Given the description of an element on the screen output the (x, y) to click on. 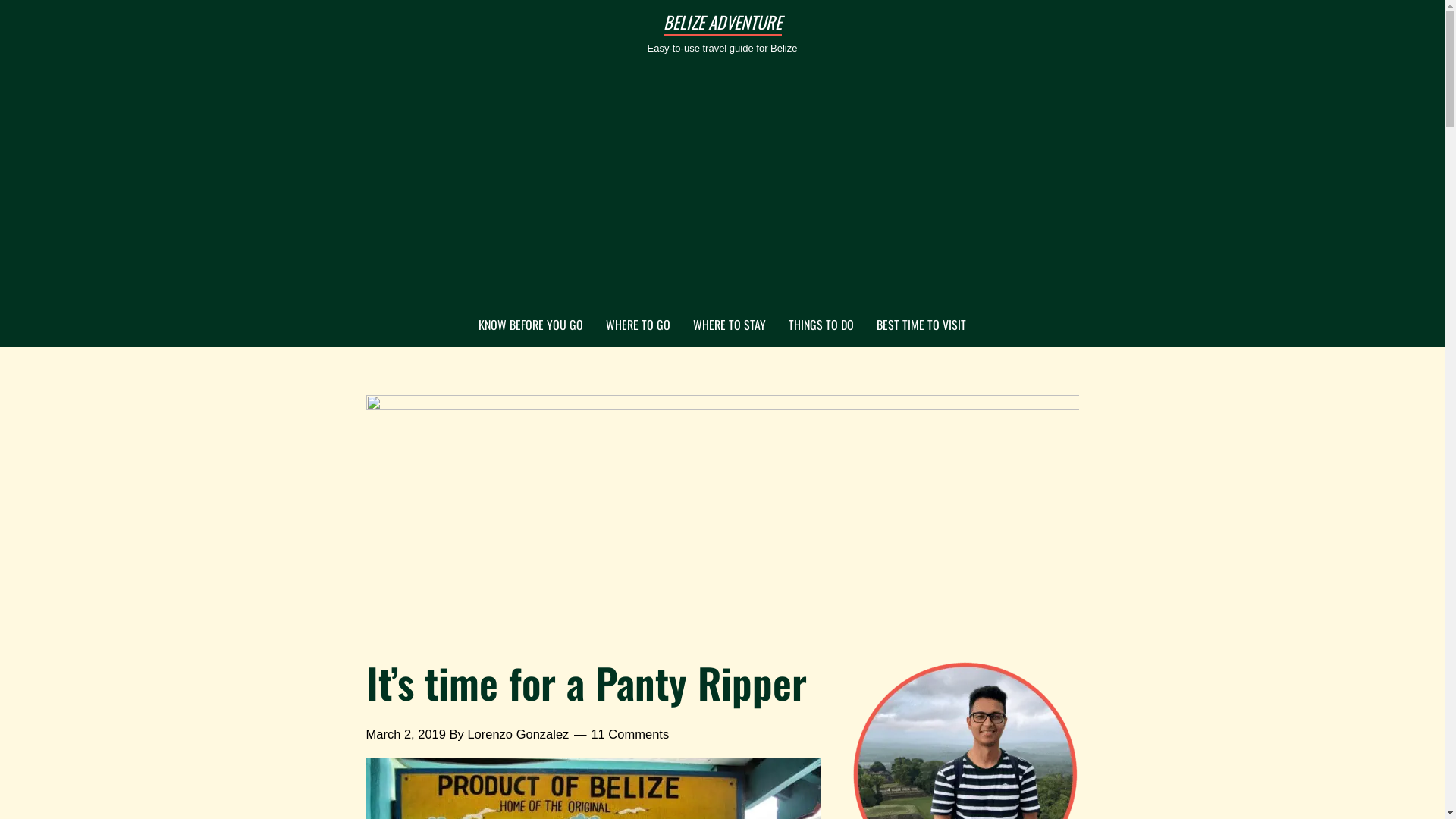
THINGS TO DO Element type: text (821, 325)
BELIZE ADVENTURE Element type: text (721, 21)
WHERE TO GO Element type: text (637, 325)
Advertisement Element type: hover (721, 189)
KNOW BEFORE YOU GO Element type: text (530, 325)
11 Comments Element type: text (629, 733)
WHERE TO STAY Element type: text (729, 325)
BEST TIME TO VISIT Element type: text (921, 325)
Lorenzo Gonzalez Element type: text (517, 733)
